Given the description of an element on the screen output the (x, y) to click on. 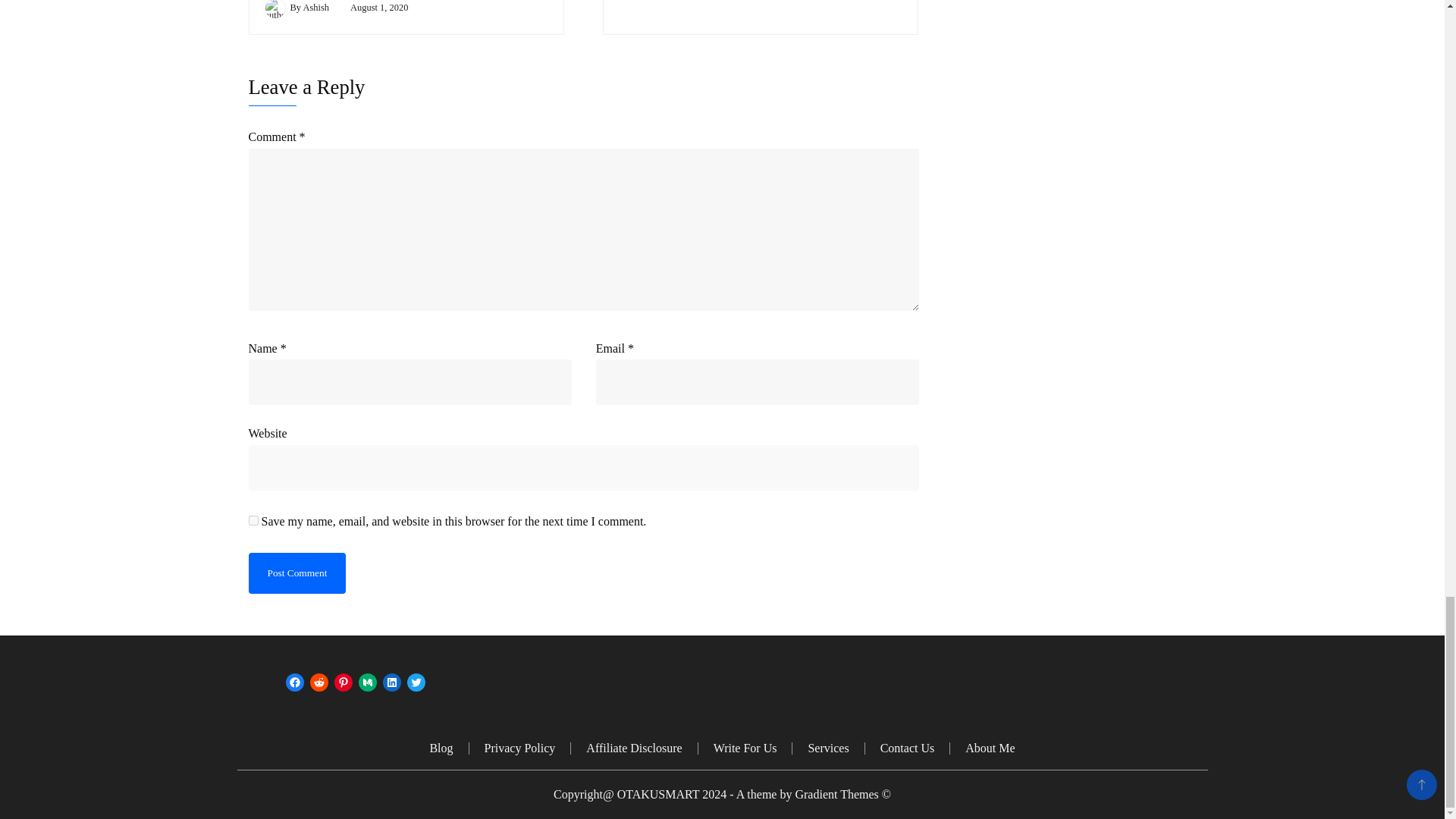
Post Comment (297, 572)
yes (253, 520)
